Given the description of an element on the screen output the (x, y) to click on. 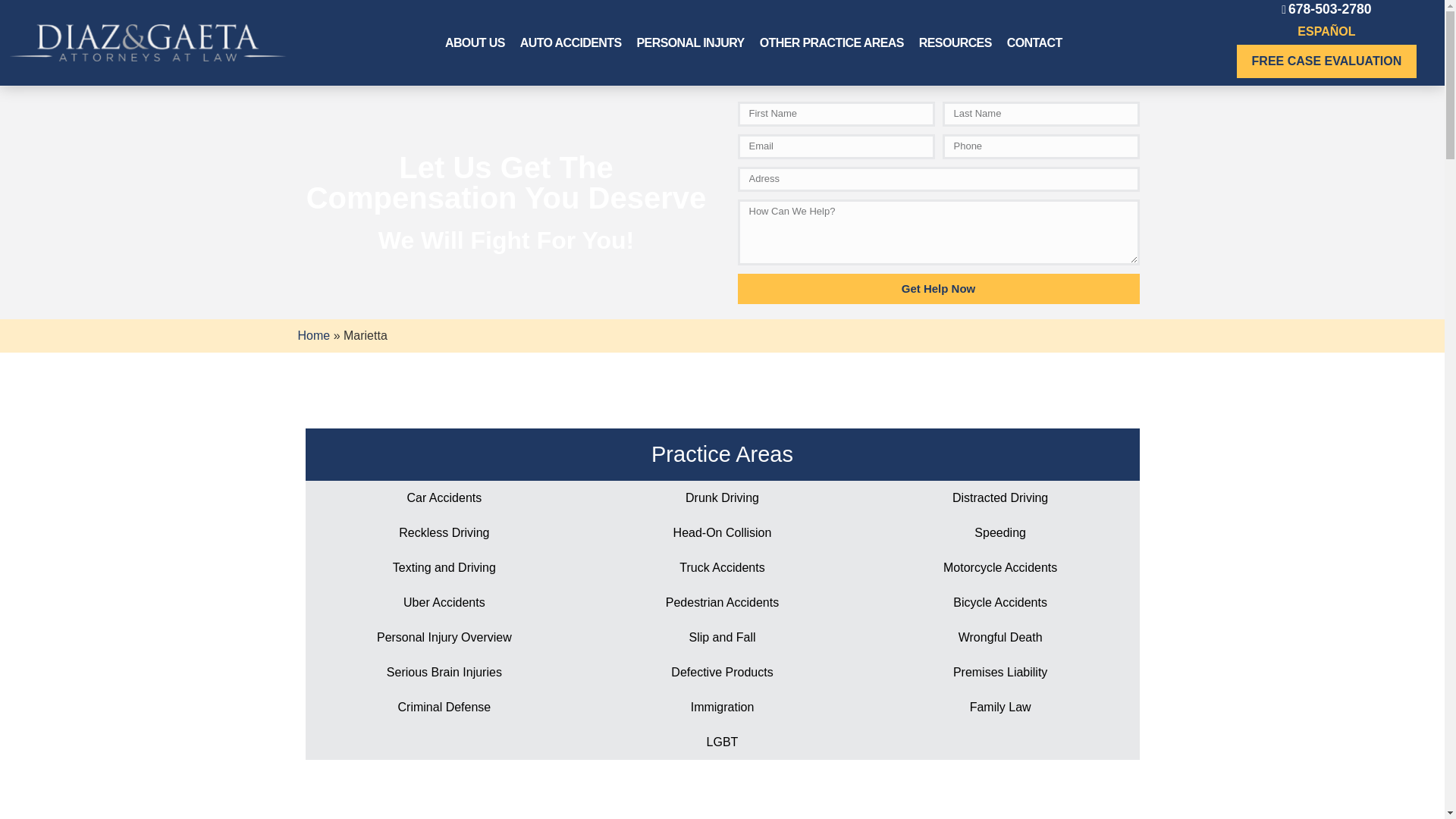
ABOUT US (475, 42)
Home (313, 335)
